Given the description of an element on the screen output the (x, y) to click on. 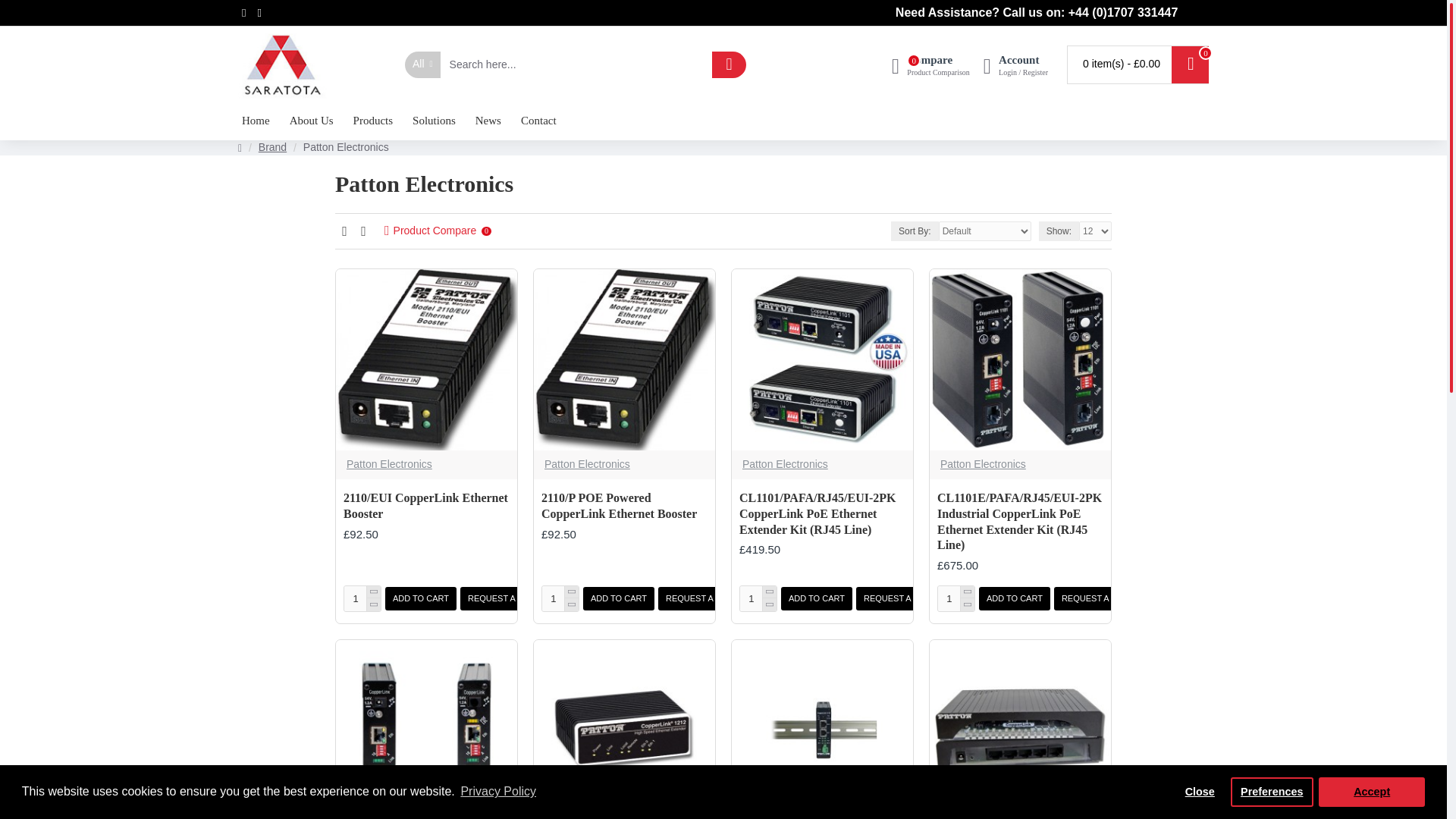
Privacy Policy (498, 791)
1 (559, 598)
Close (931, 64)
Preferences (1199, 791)
1 (1271, 791)
SARATOTA LTD (361, 598)
1 (283, 64)
Accept (757, 598)
1 (1372, 791)
